Given the description of an element on the screen output the (x, y) to click on. 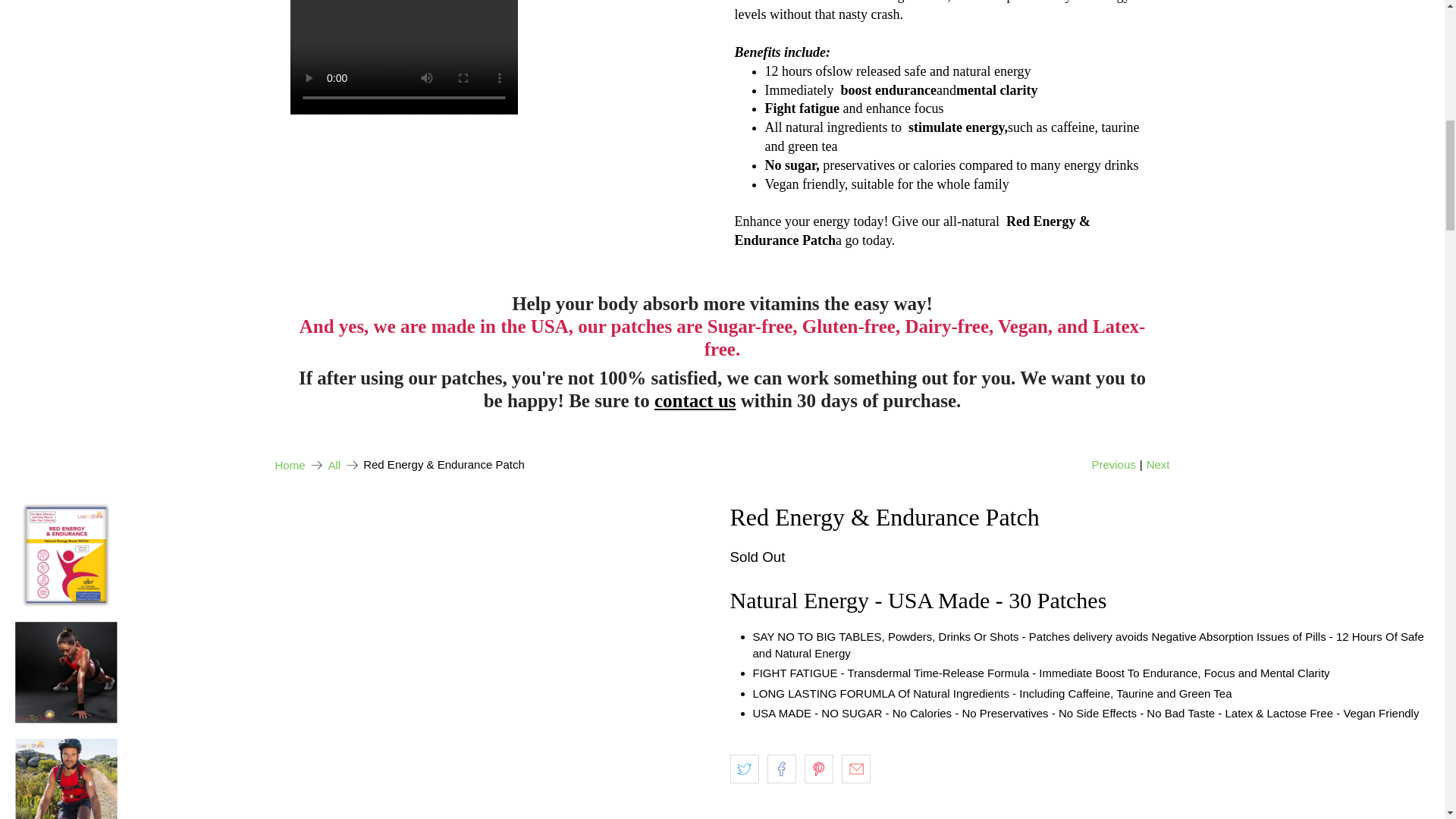
LiveToShine (289, 464)
Next (1158, 465)
Share this on Twitter (743, 768)
Email this to a friend (855, 768)
Previous (1112, 465)
Share this on Facebook (781, 768)
Share this on Pinterest (818, 768)
All (334, 464)
